Given the description of an element on the screen output the (x, y) to click on. 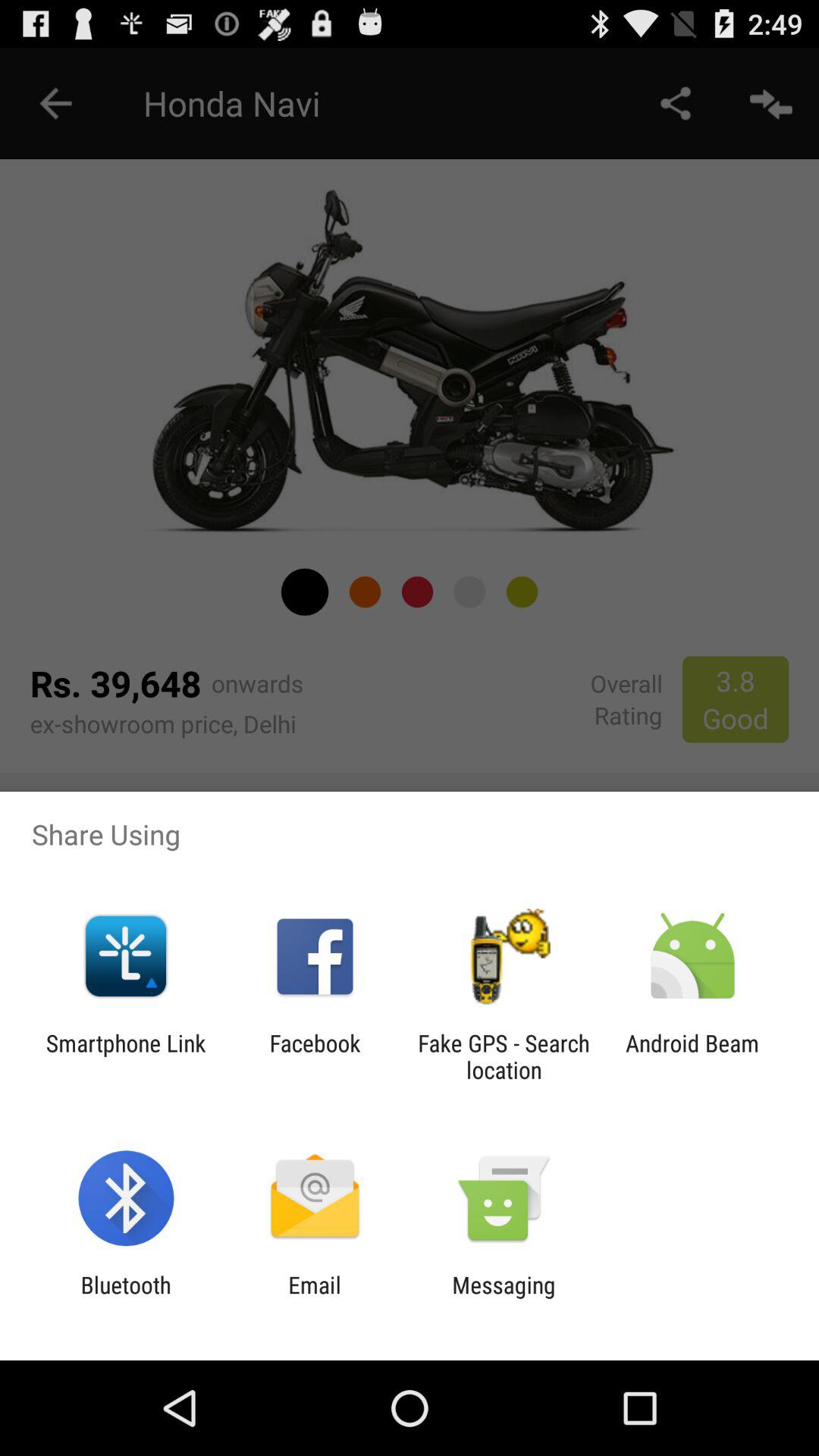
click the app next to the facebook app (125, 1056)
